Given the description of an element on the screen output the (x, y) to click on. 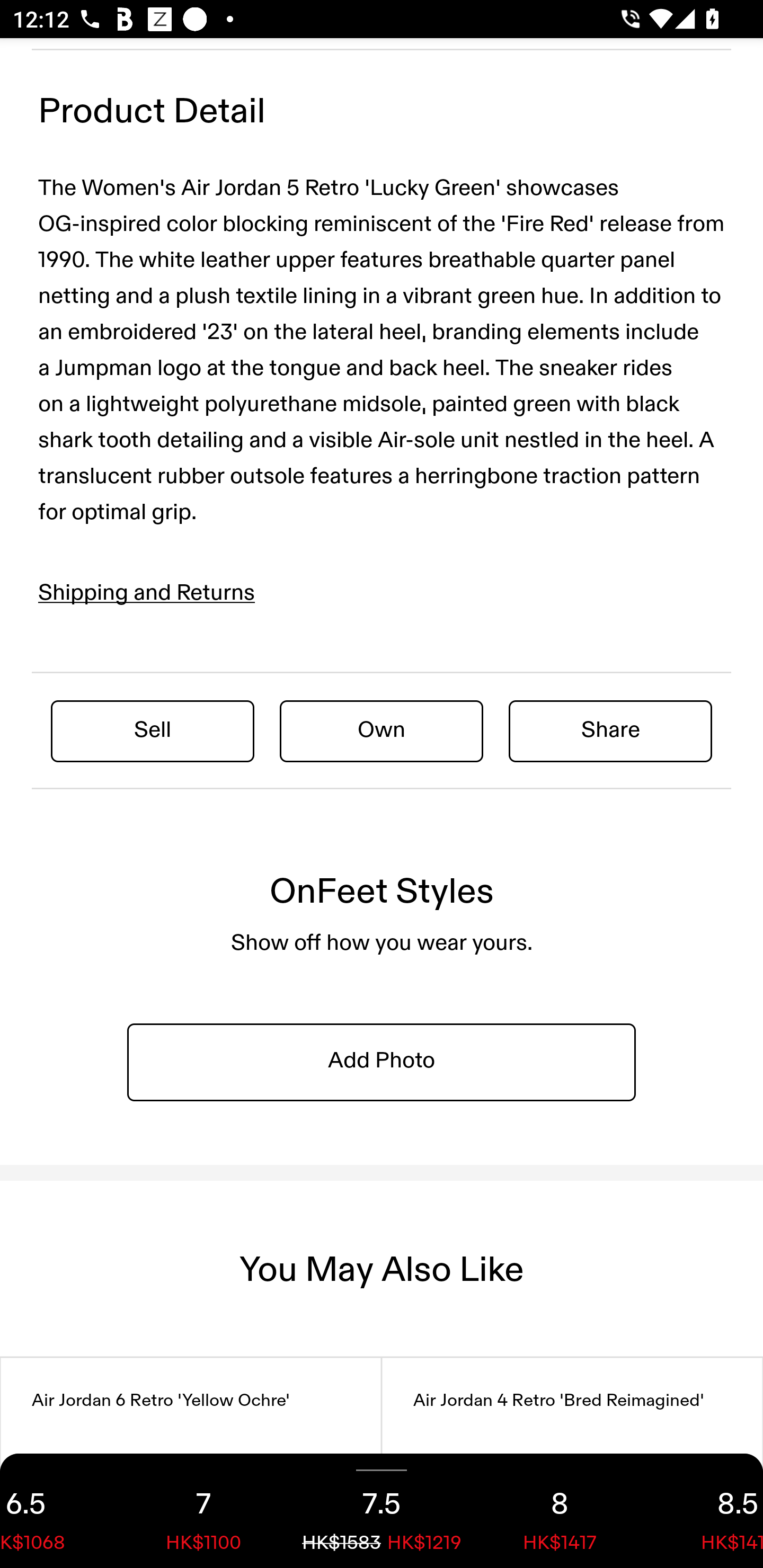
Shipping and Returns (146, 593)
Sell (152, 730)
Own (381, 730)
Share (609, 730)
Add Photo (381, 1061)
Air Jordan 6 Retro 'Yellow Ochre' (190, 1462)
Air Jordan 4 Retro 'Bred Reimagined' (572, 1462)
6.5 HK$1068 (57, 1510)
7 HK$1100 (203, 1510)
7.5 HK$1583 HK$1219 (381, 1510)
8 HK$1417 (559, 1510)
8.5 HK$1417 (705, 1510)
